Given the description of an element on the screen output the (x, y) to click on. 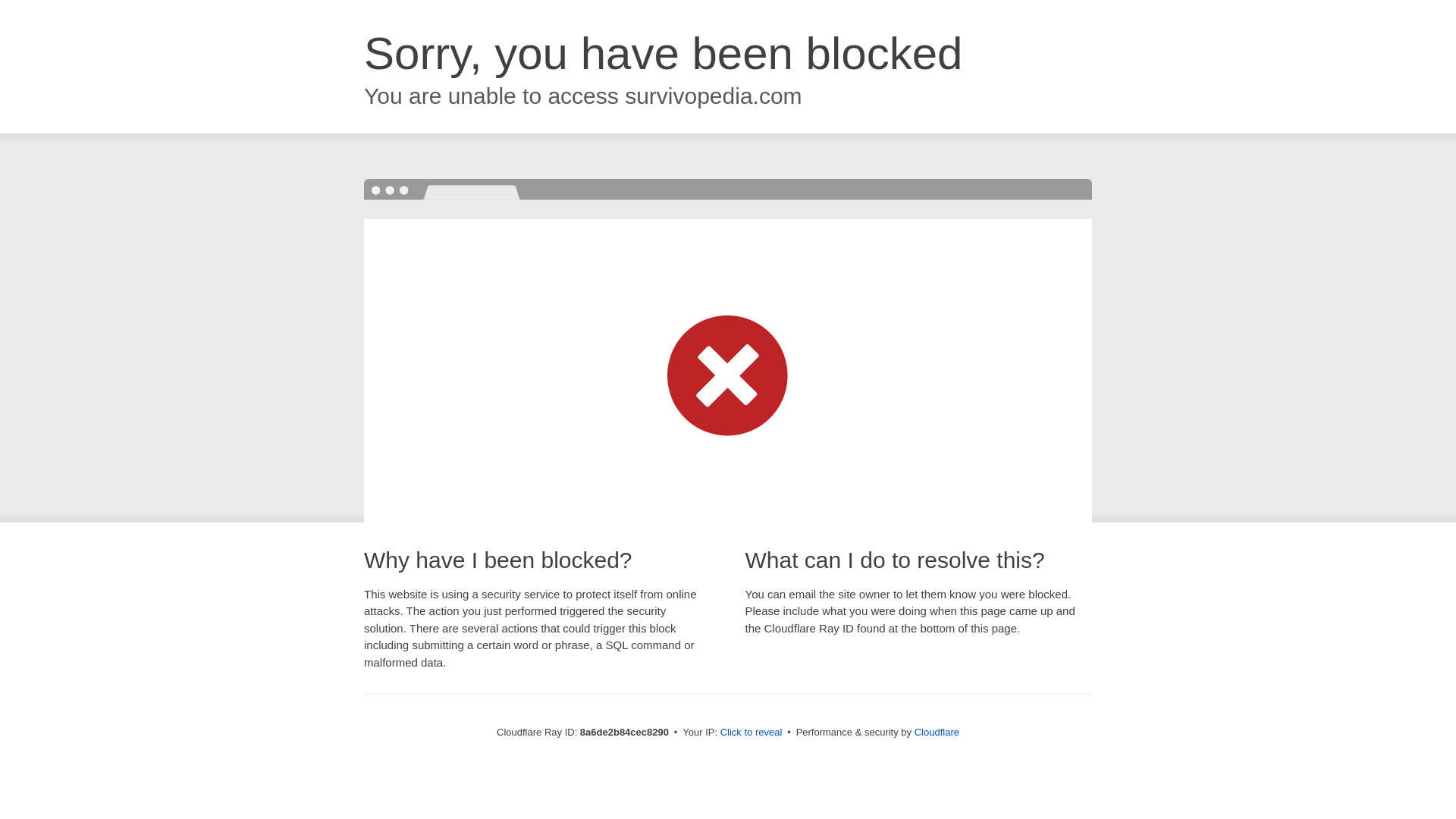
Click to reveal (751, 732)
Cloudflare (936, 731)
